Given the description of an element on the screen output the (x, y) to click on. 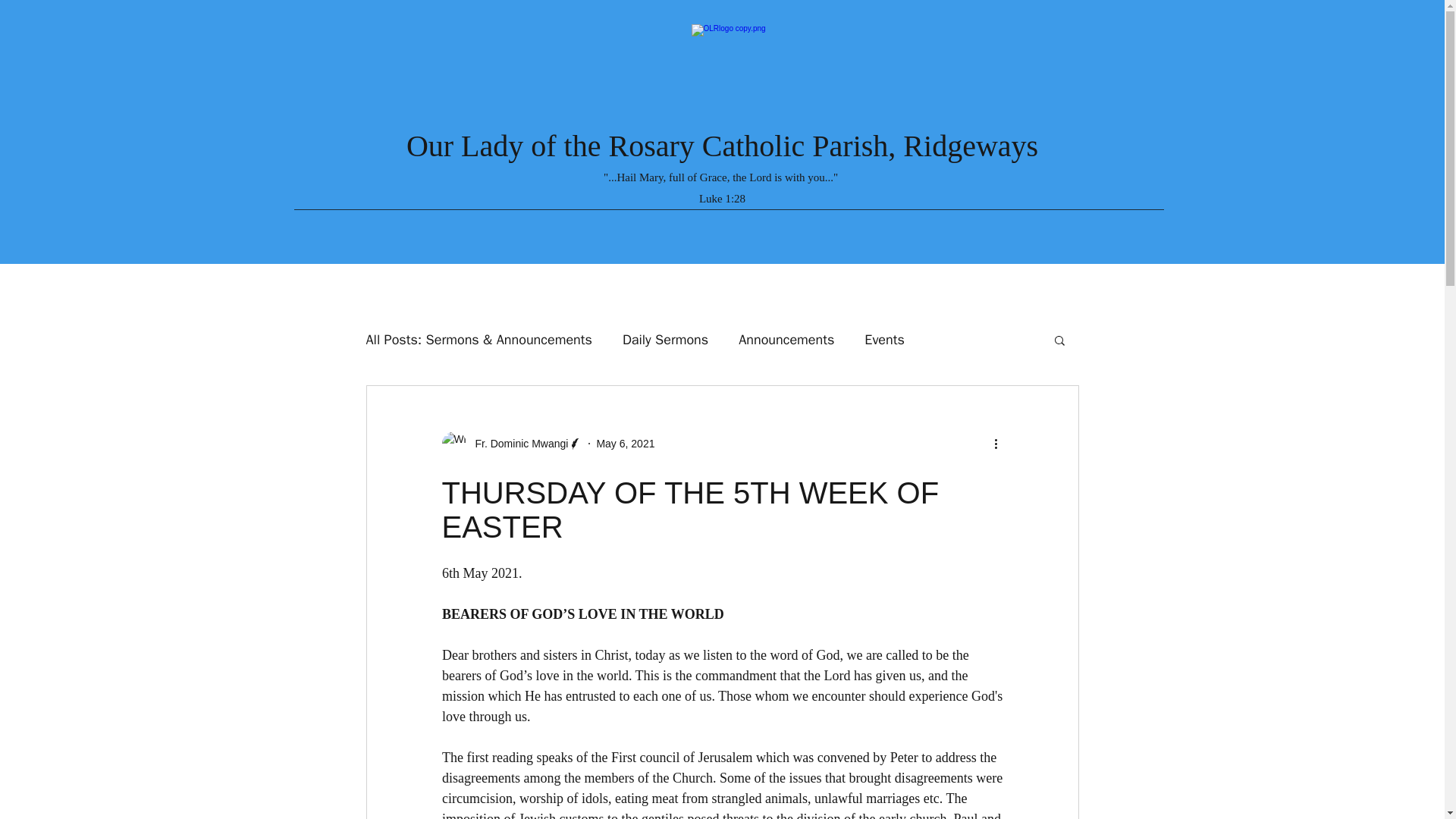
Our Lady of the Rosary Catholic Parish, Ridgeways (722, 145)
Fr. Dominic Mwangi (516, 443)
May 6, 2021 (624, 443)
Fr. Dominic Mwangi (511, 443)
Daily Sermons (665, 339)
Announcements (786, 339)
Events (884, 339)
